Given the description of an element on the screen output the (x, y) to click on. 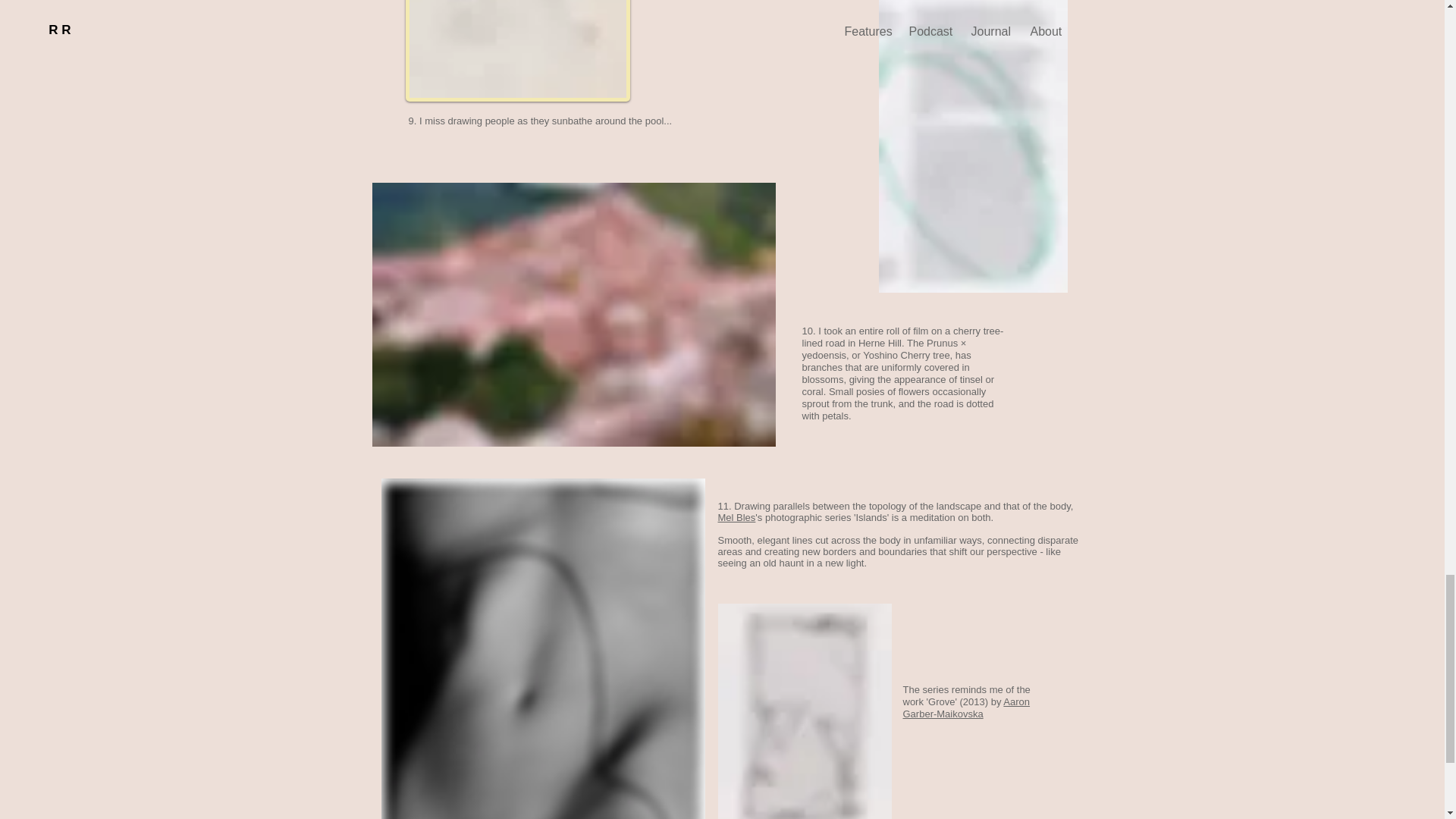
Mel Bles (736, 517)
Aaron Garber-Maikovska (965, 707)
